Given the description of an element on the screen output the (x, y) to click on. 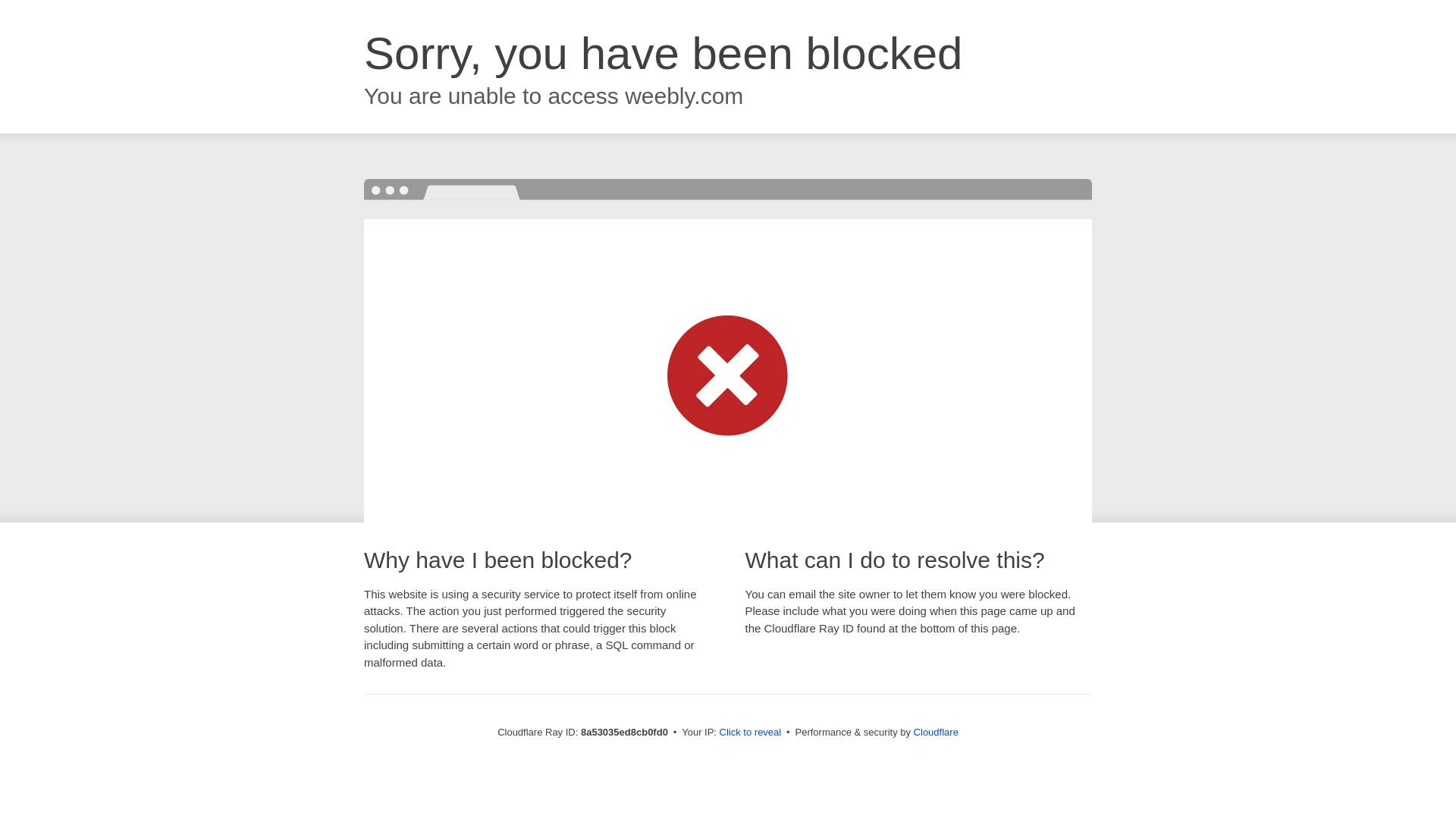
Click to reveal (750, 732)
Cloudflare (936, 731)
